Given the description of an element on the screen output the (x, y) to click on. 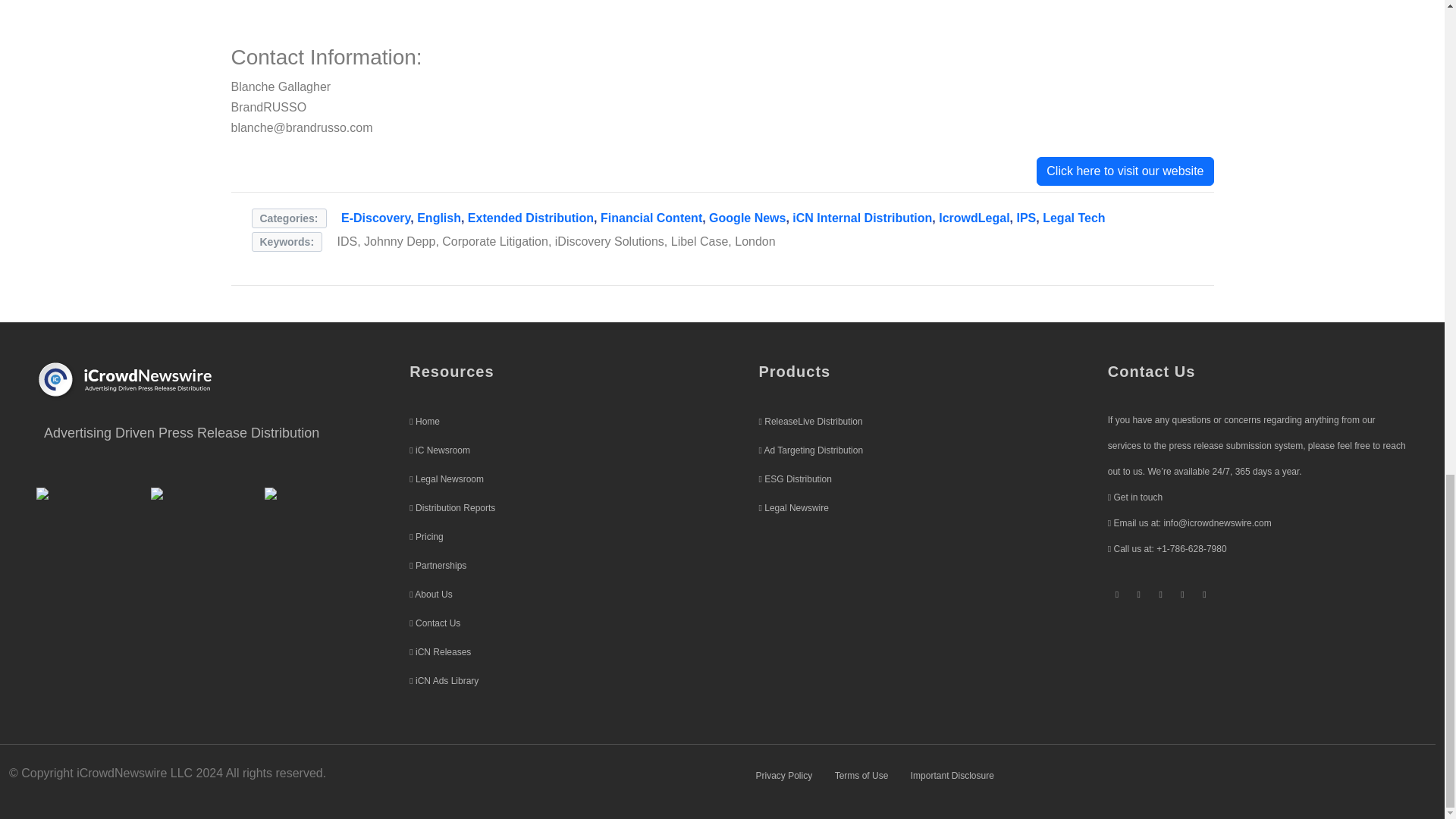
Legal Newsroom (448, 479)
IcrowdLegal (974, 217)
IPS (1025, 217)
Google News (747, 217)
English (438, 217)
iCN Internal Distribution (861, 217)
Financial Content (650, 217)
E-Discovery (375, 217)
Home (426, 421)
iC Newsroom (442, 450)
